Given the description of an element on the screen output the (x, y) to click on. 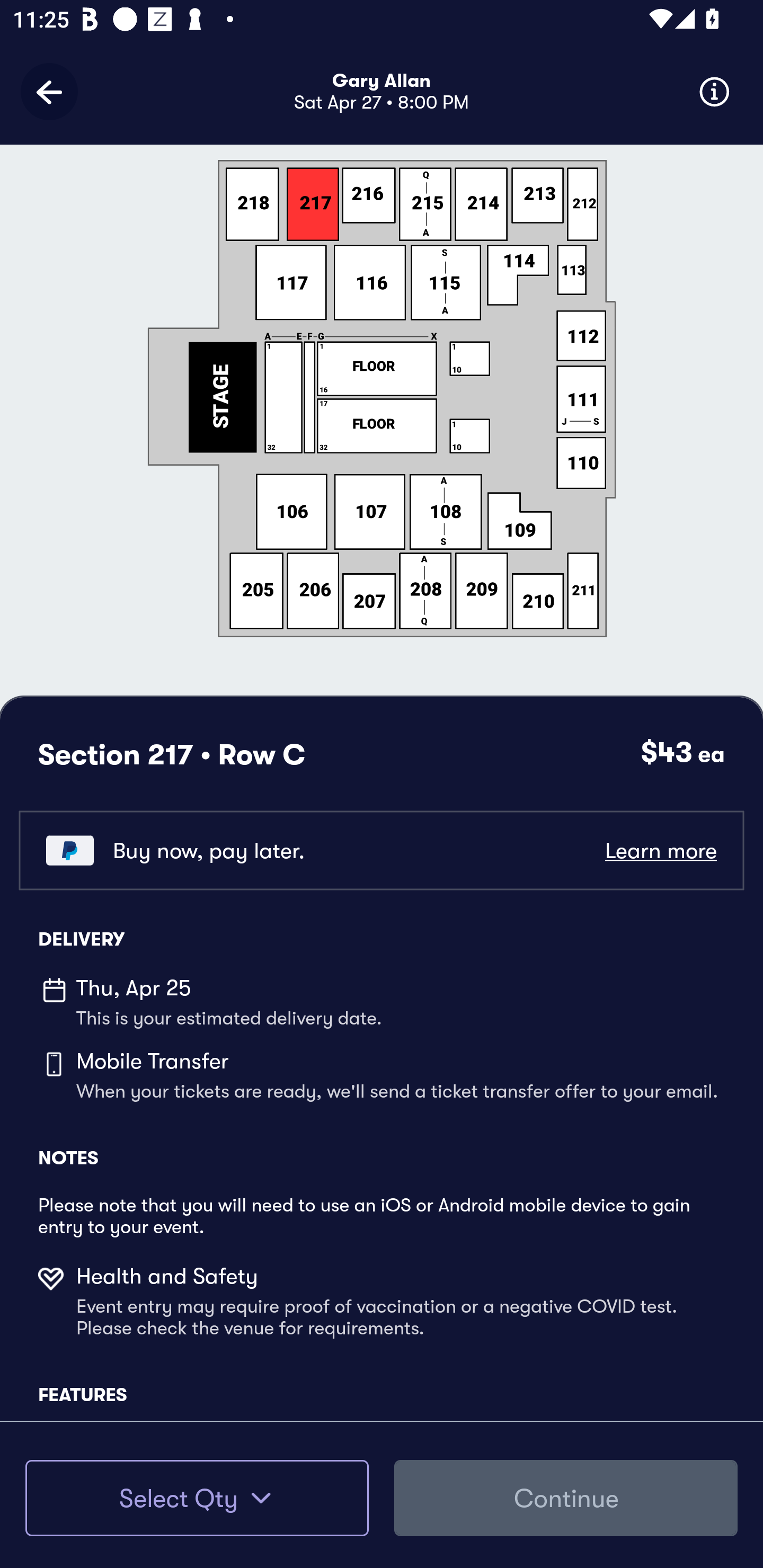
Learn more (660, 850)
Select Qty (196, 1497)
Continue (565, 1497)
